Given the description of an element on the screen output the (x, y) to click on. 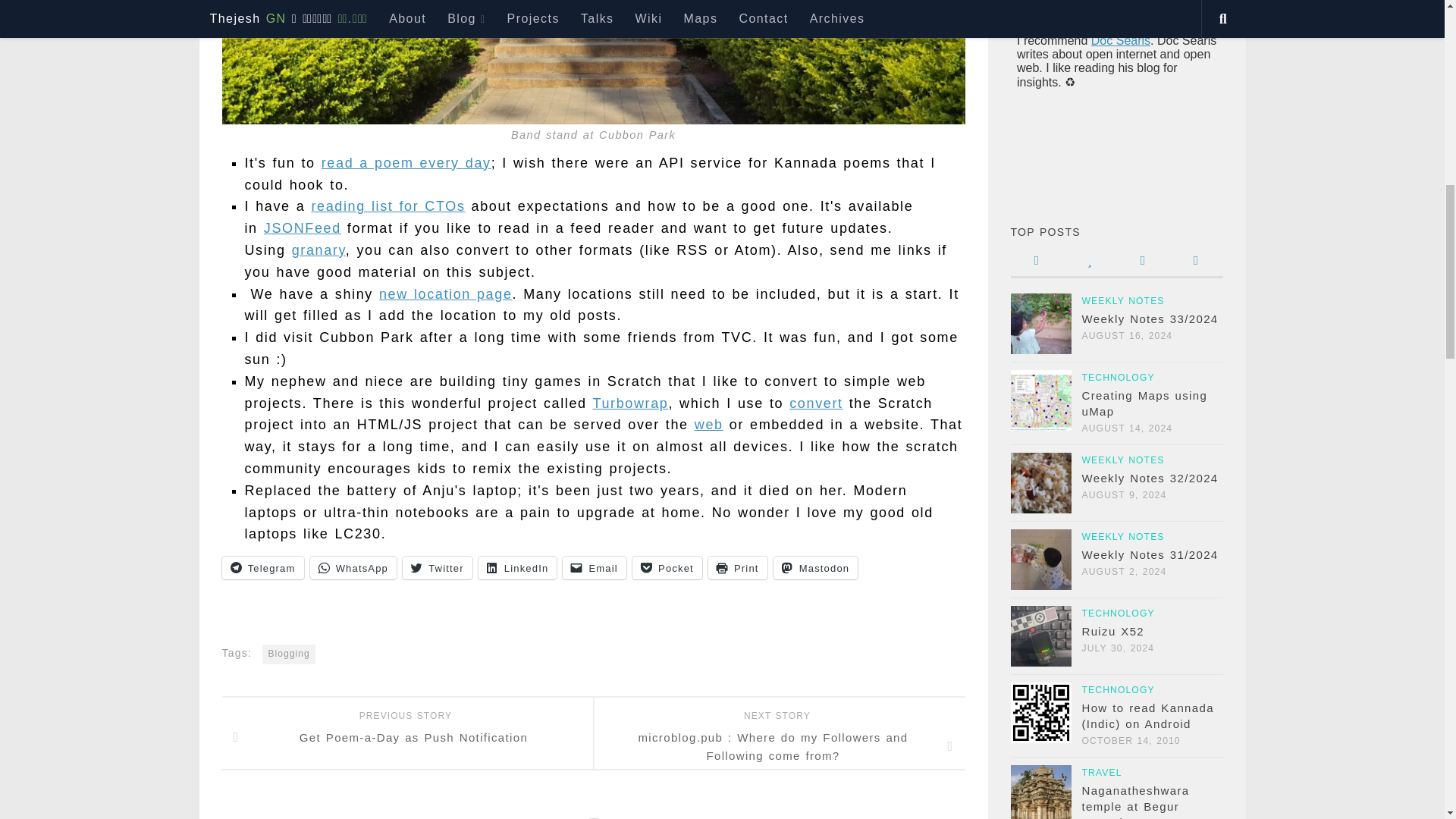
Click to email a link to a friend (594, 567)
Click to share on Telegram (261, 567)
Click to share on LinkedIn (518, 567)
Click to print (737, 567)
Click to share on Mastodon (816, 567)
Click to share on WhatsApp (352, 567)
Click to share on Pocket (666, 567)
Click to share on Twitter (437, 567)
